Given the description of an element on the screen output the (x, y) to click on. 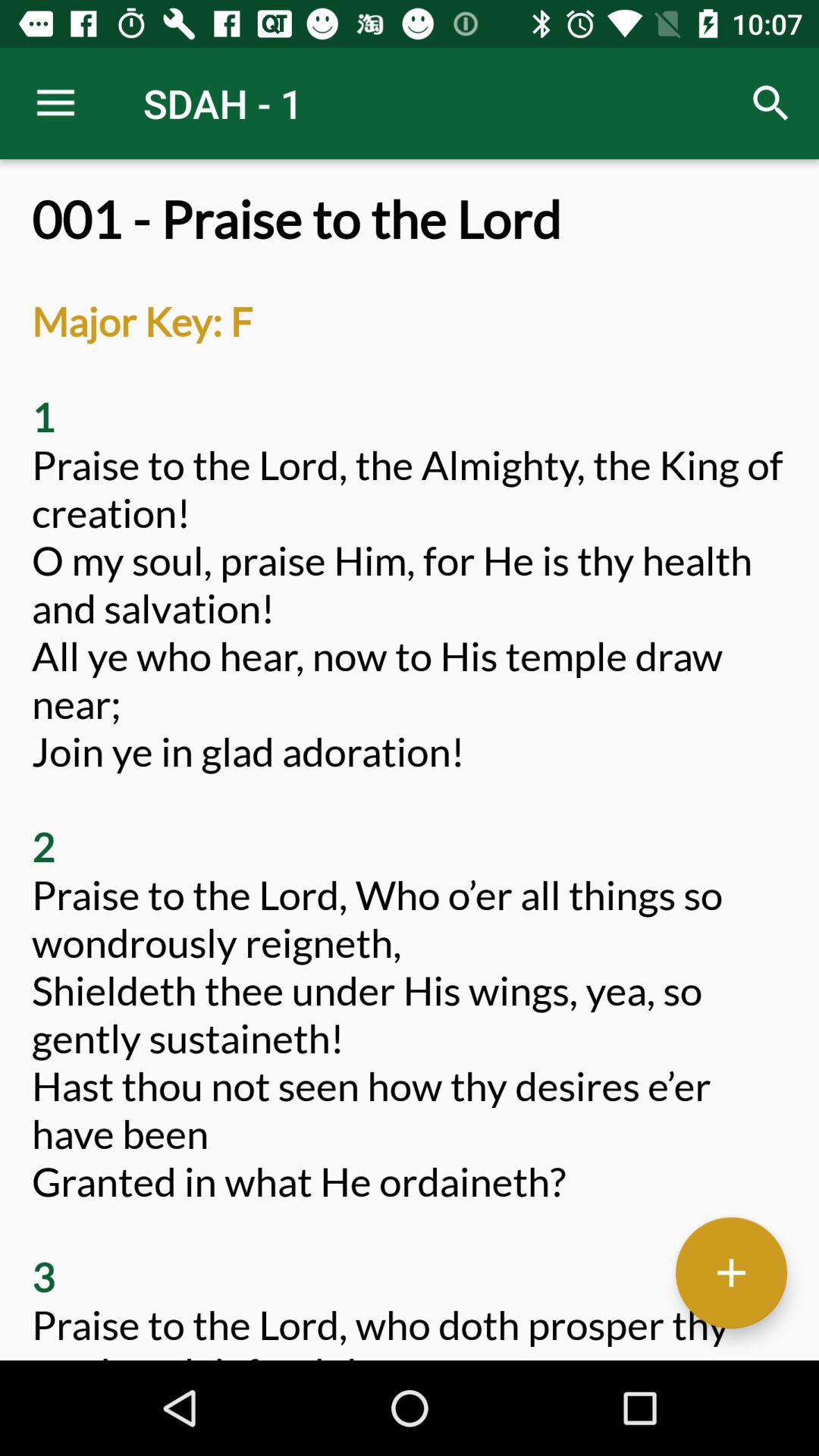
turn on the icon at the bottom right corner (731, 1272)
